Given the description of an element on the screen output the (x, y) to click on. 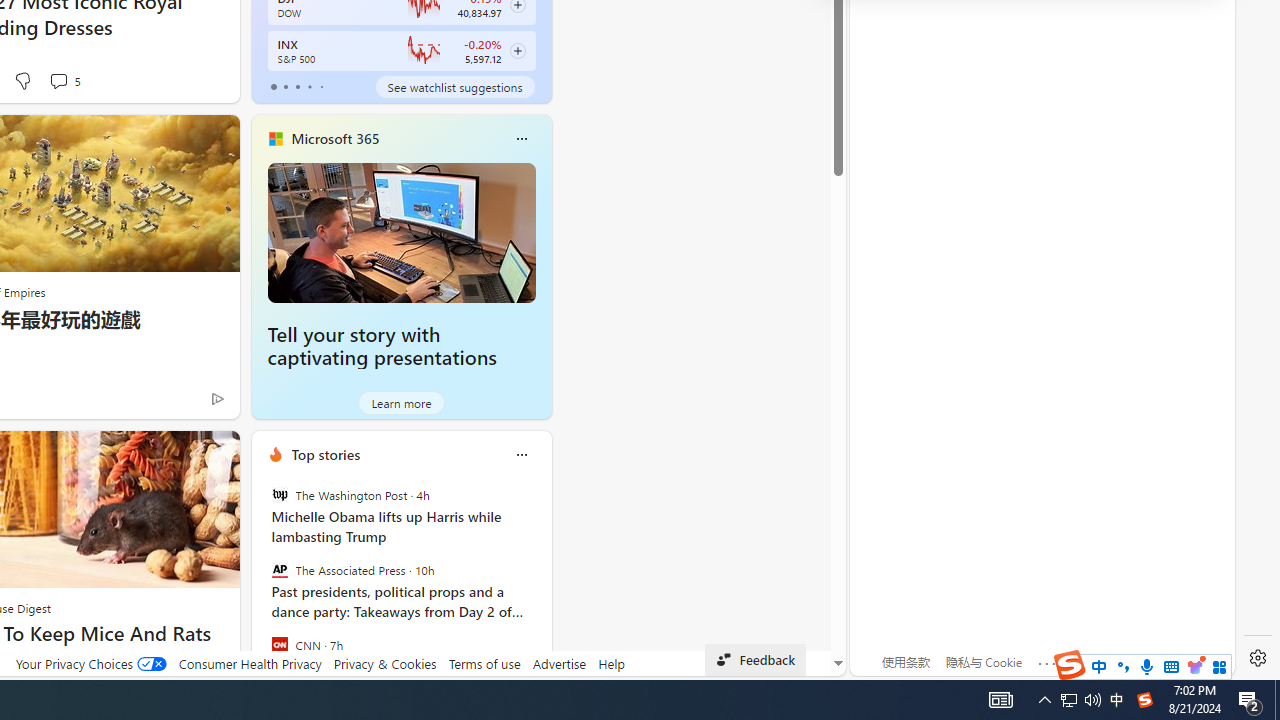
Class: follow-button  m (517, 51)
Learn more (401, 402)
Top stories (325, 454)
The Washington Post (279, 494)
tab-4 (320, 86)
